Given the description of an element on the screen output the (x, y) to click on. 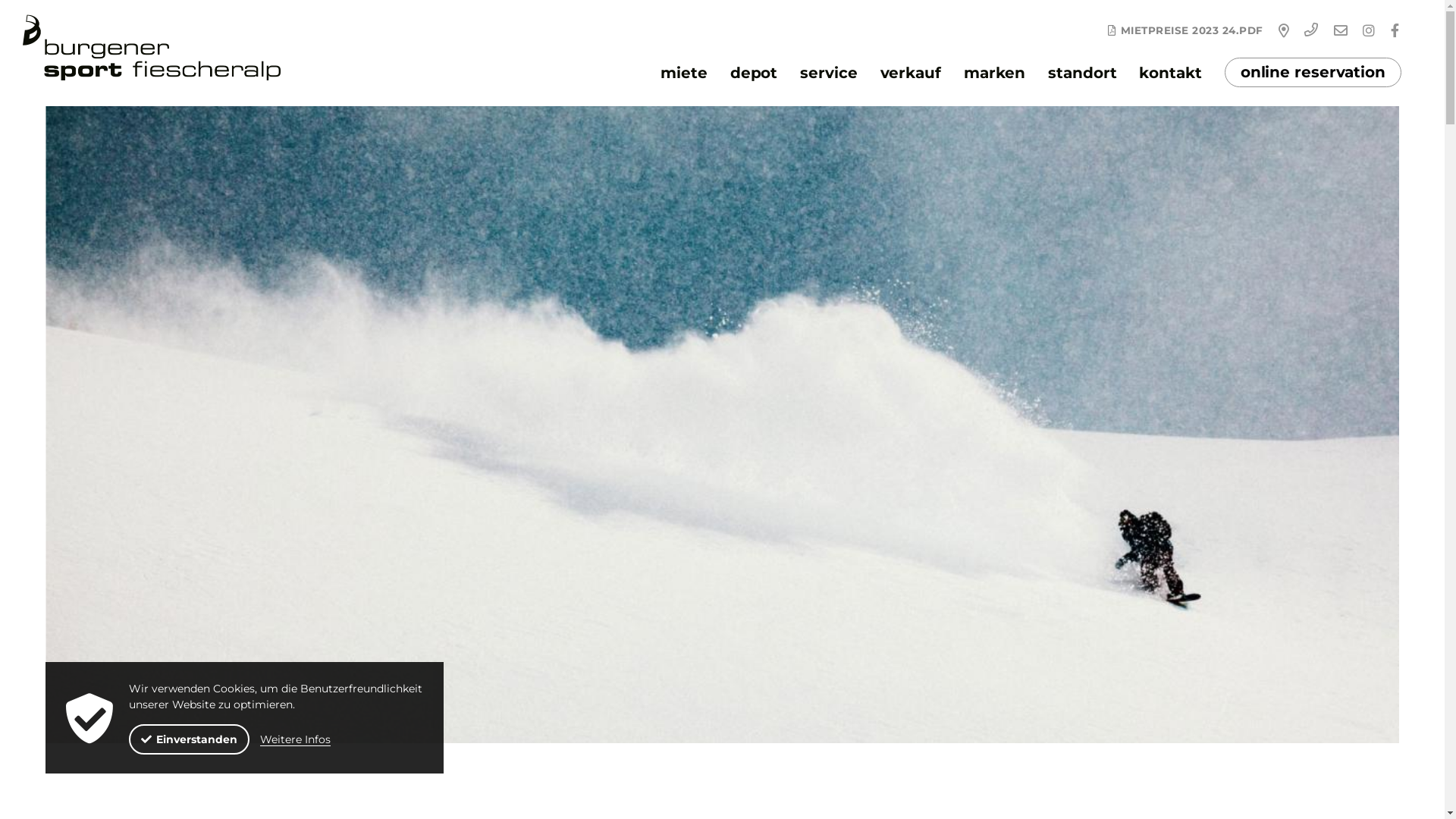
MIETPREISE 2023 24.PDF Element type: text (1184, 30)
kontakt Element type: text (1170, 72)
standort Element type: text (1082, 72)
service Element type: text (828, 72)
miete Element type: text (683, 72)
depot Element type: text (754, 72)
marken Element type: text (994, 72)
verkauf Element type: text (910, 72)
online reservation Element type: text (1312, 72)
Einverstanden Element type: text (188, 739)
Weitere Infos Element type: text (295, 738)
